Given the description of an element on the screen output the (x, y) to click on. 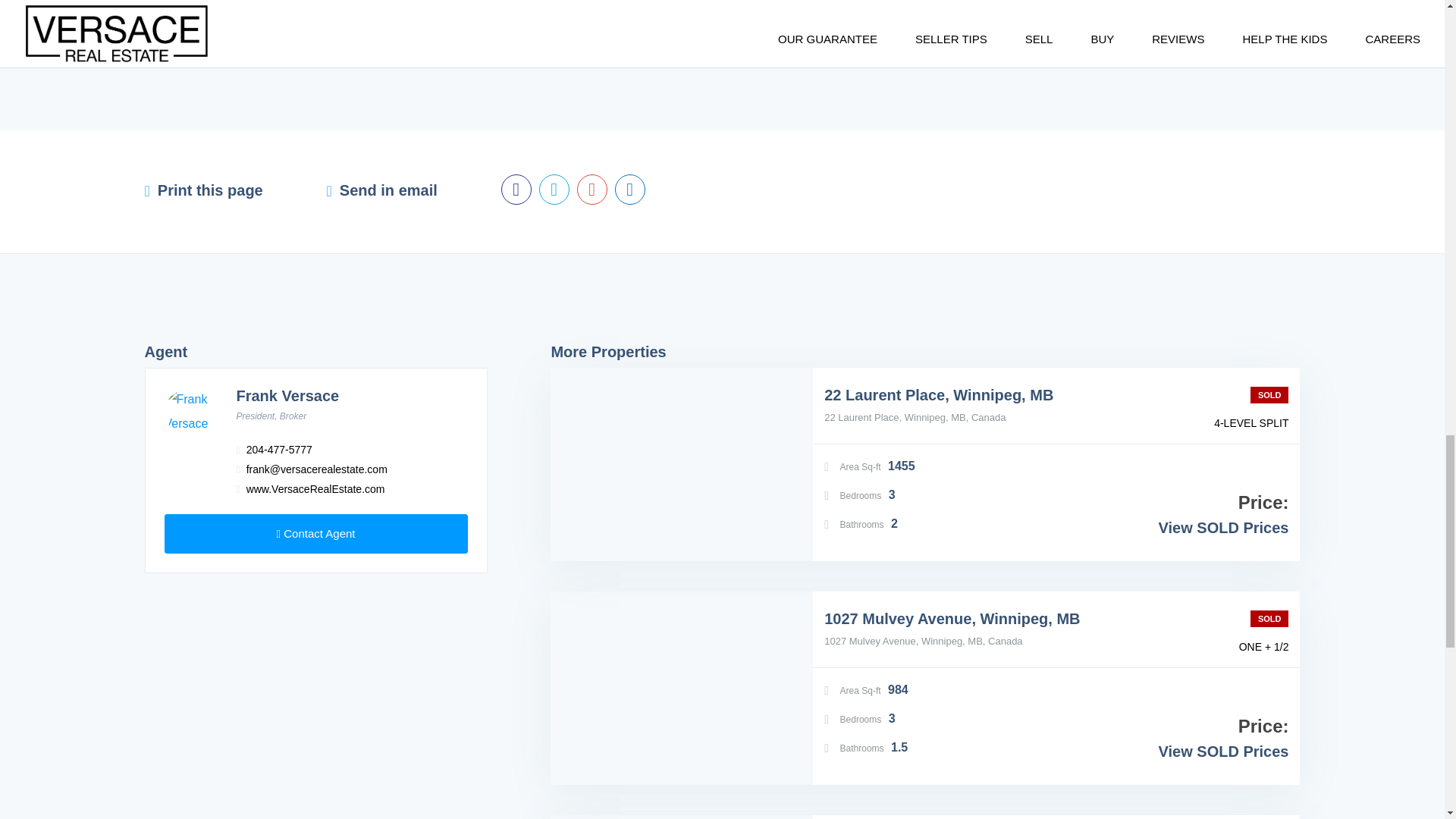
Frank Versace (287, 395)
Send in email (388, 190)
Print this page (210, 194)
